Given the description of an element on the screen output the (x, y) to click on. 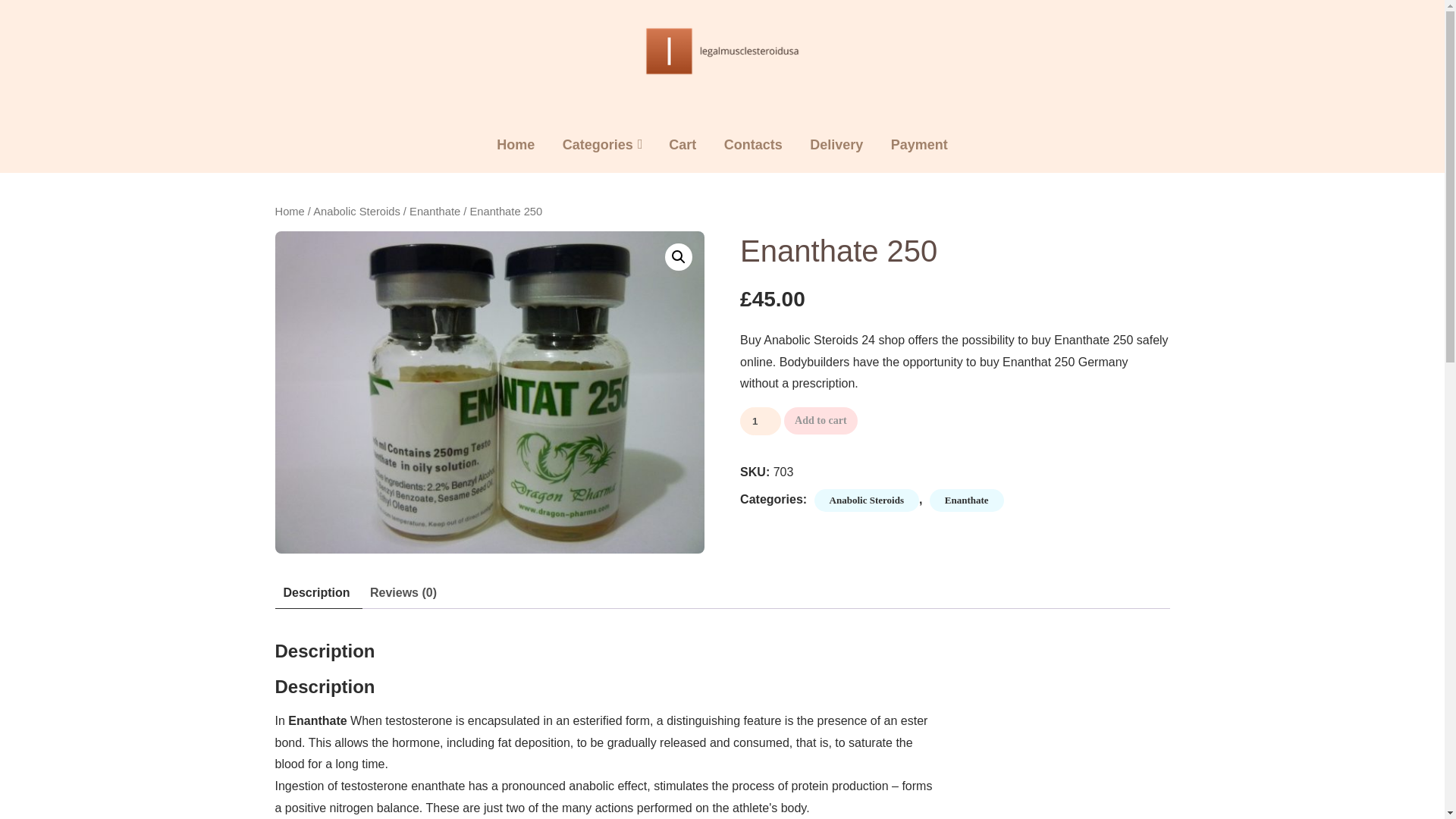
Payment (919, 144)
Cart (681, 144)
1 (759, 420)
Anabolic Steroids (865, 499)
Home (289, 211)
Anabolic Steroids (356, 211)
Add to cart (820, 420)
Categories (597, 144)
Delivery (836, 144)
Home (515, 144)
Enanthate (967, 499)
Description (316, 593)
Enanthate (434, 211)
Contacts (752, 144)
